Given the description of an element on the screen output the (x, y) to click on. 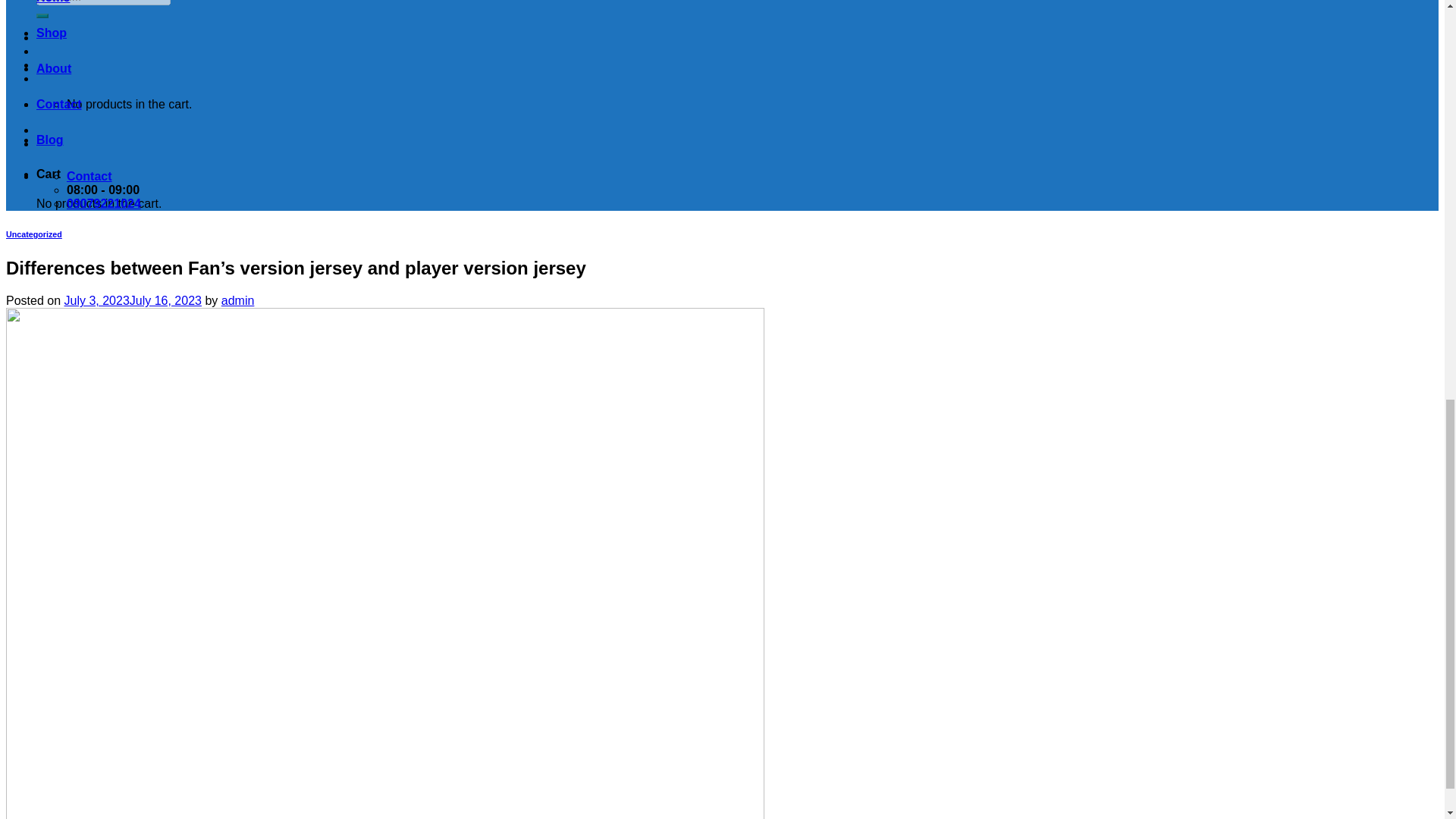
admin (237, 300)
08:00 - 09:00  (102, 189)
Home (52, 2)
About (53, 68)
Contact (89, 175)
Blog (50, 139)
Uncategorized (33, 234)
Shop (51, 32)
July 3, 2023July 16, 2023 (132, 300)
09079221024 (103, 203)
